Given the description of an element on the screen output the (x, y) to click on. 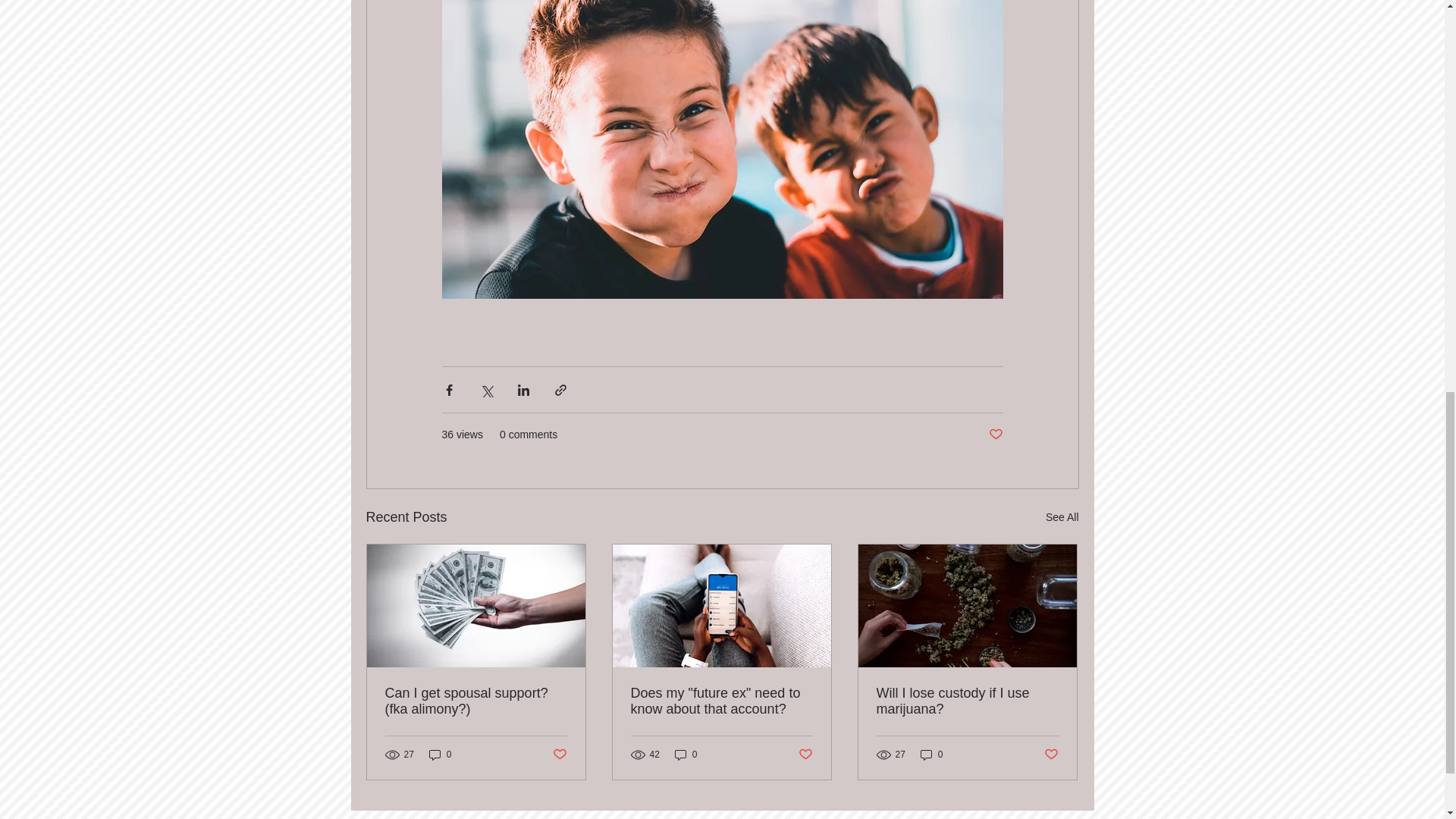
Does my "future ex" need to know about that account? (721, 701)
See All (1061, 517)
Post not marked as liked (804, 754)
Will I lose custody if I use marijuana? (967, 701)
Post not marked as liked (558, 754)
0 (931, 754)
0 (685, 754)
Post not marked as liked (1050, 754)
Post not marked as liked (995, 434)
0 (440, 754)
